Given the description of an element on the screen output the (x, y) to click on. 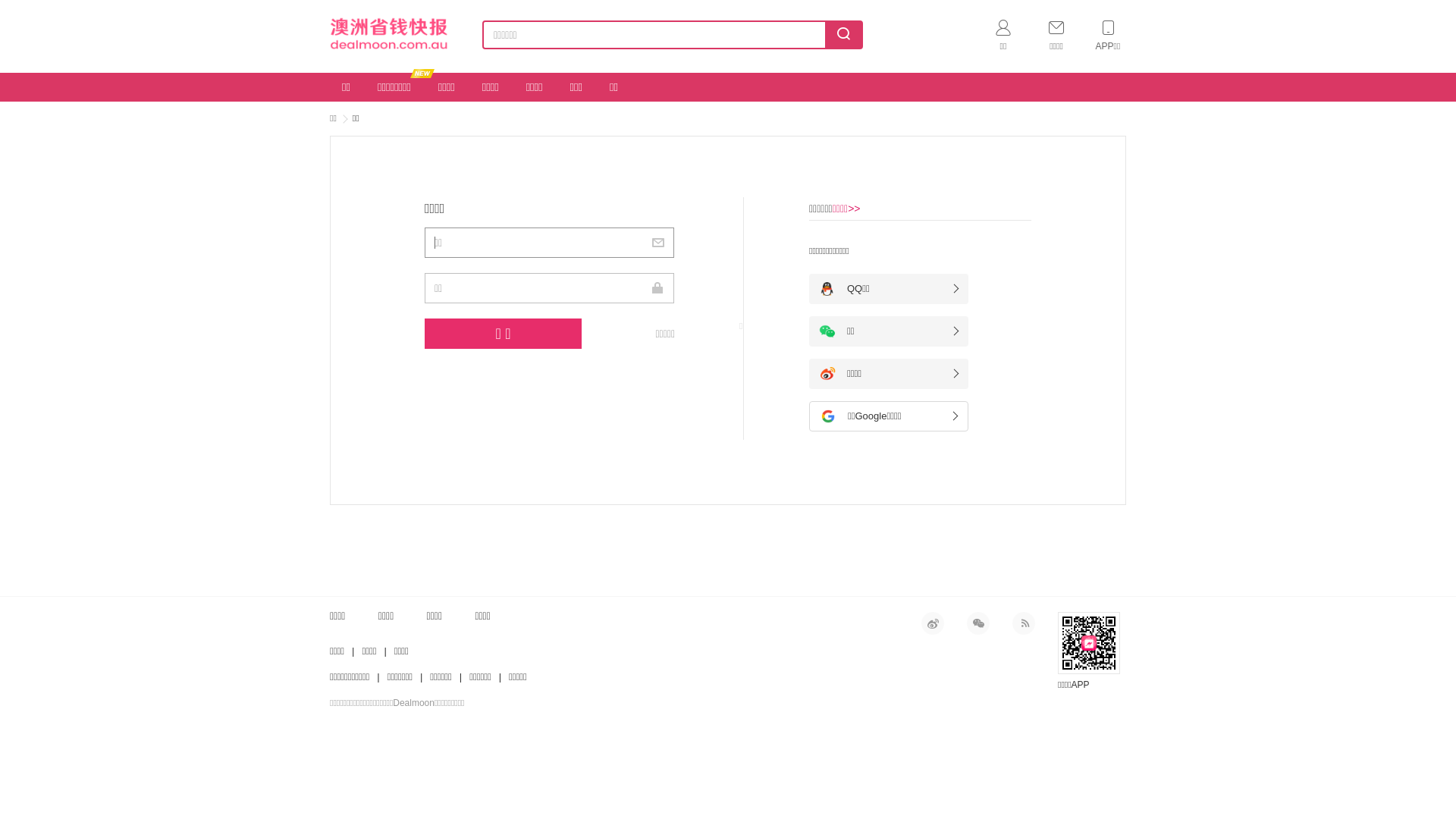
RSS Element type: text (1023, 622)
